Given the description of an element on the screen output the (x, y) to click on. 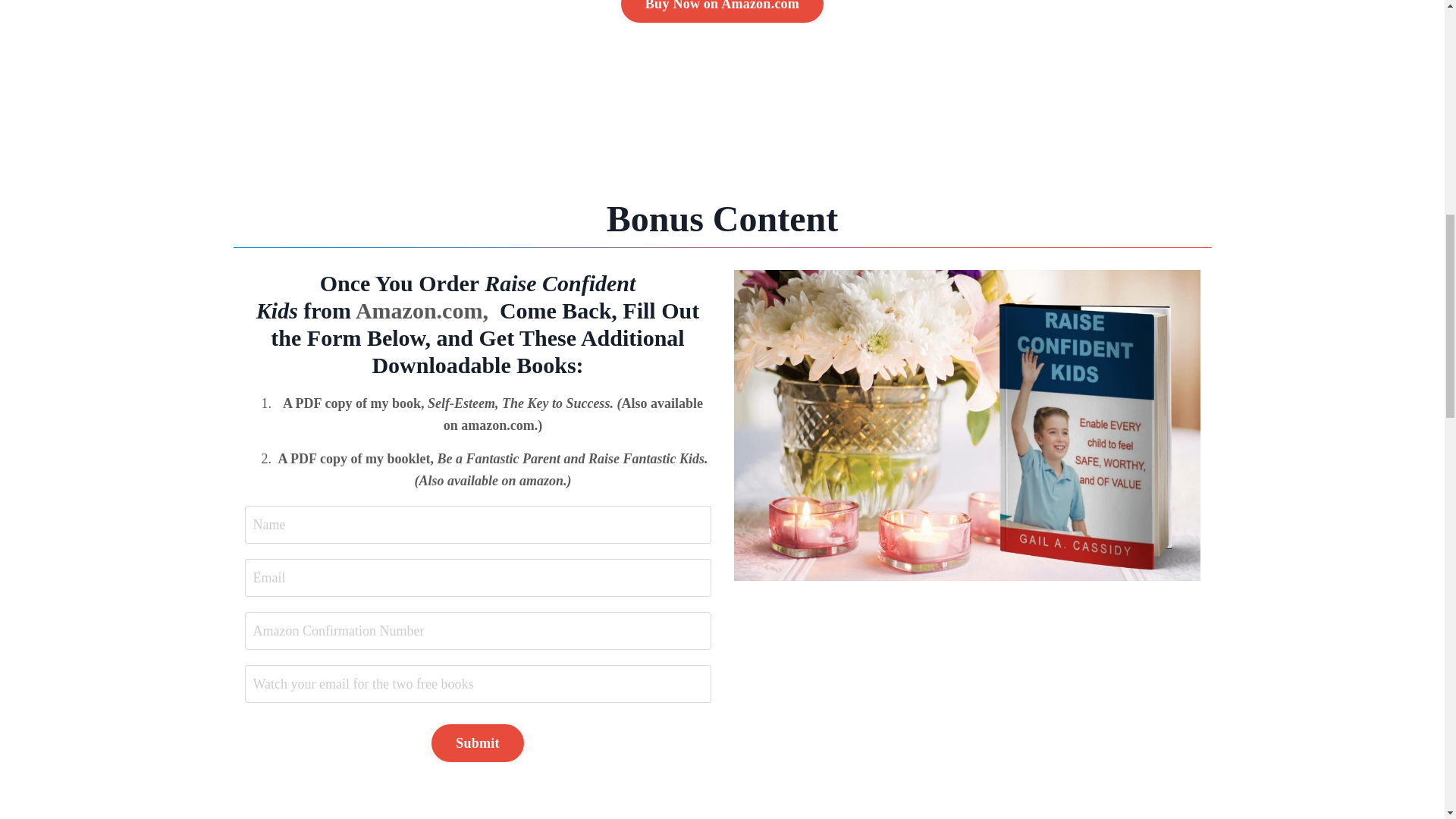
Buy Now on Amazon.com (722, 11)
Amazon.com, (421, 310)
Submit (477, 742)
